Given the description of an element on the screen output the (x, y) to click on. 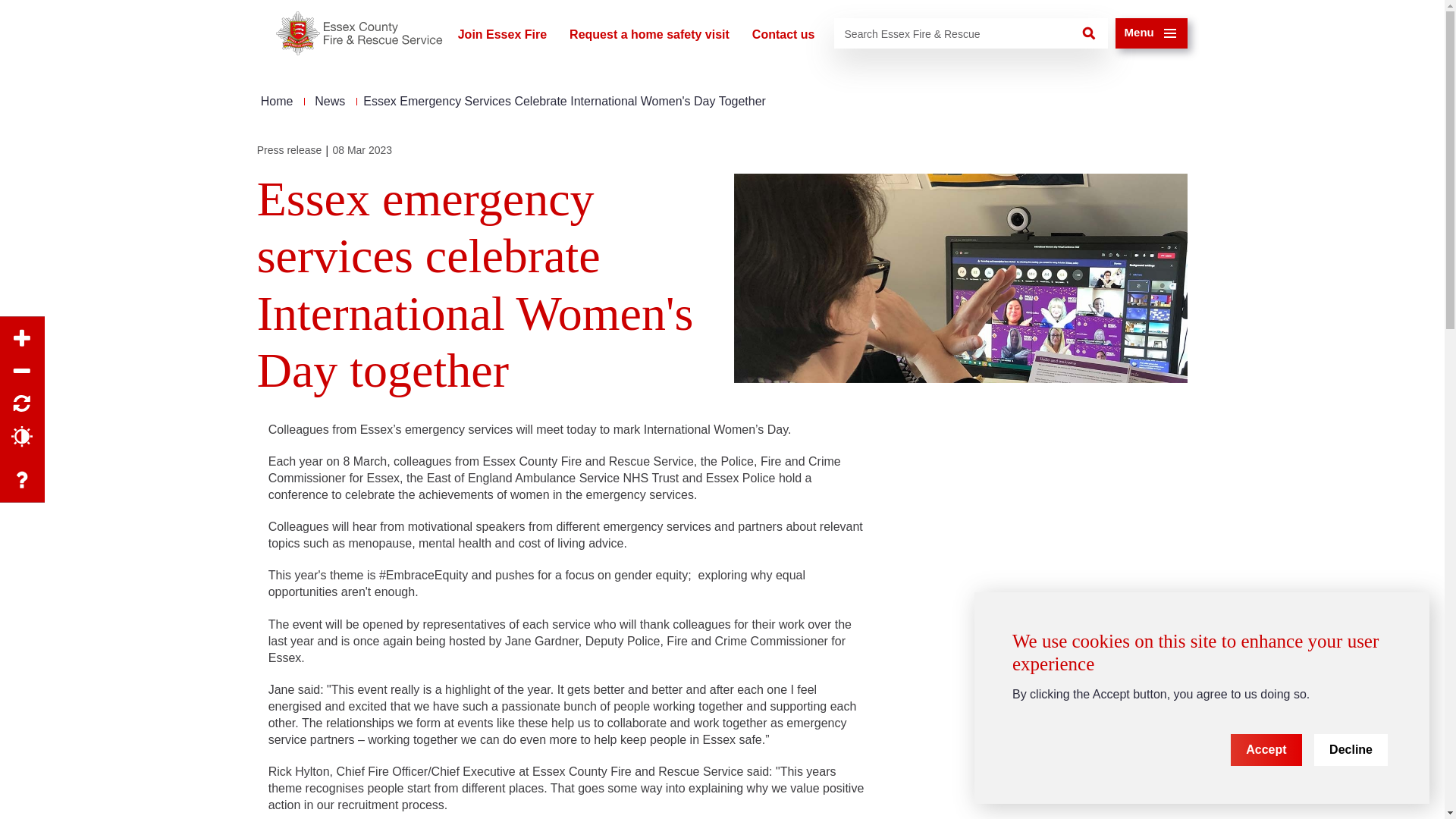
Zoom out (22, 370)
Zoom in (22, 338)
Colour contrast (22, 435)
Contact us (784, 34)
Accessibility help (22, 480)
Reset (22, 403)
Accessibility help (22, 480)
Increase font size (22, 338)
Reset (22, 403)
Contrast (22, 435)
Skip to main content (8, 2)
Request a home safety visit (649, 34)
Join Essex Fire (501, 34)
